Given the description of an element on the screen output the (x, y) to click on. 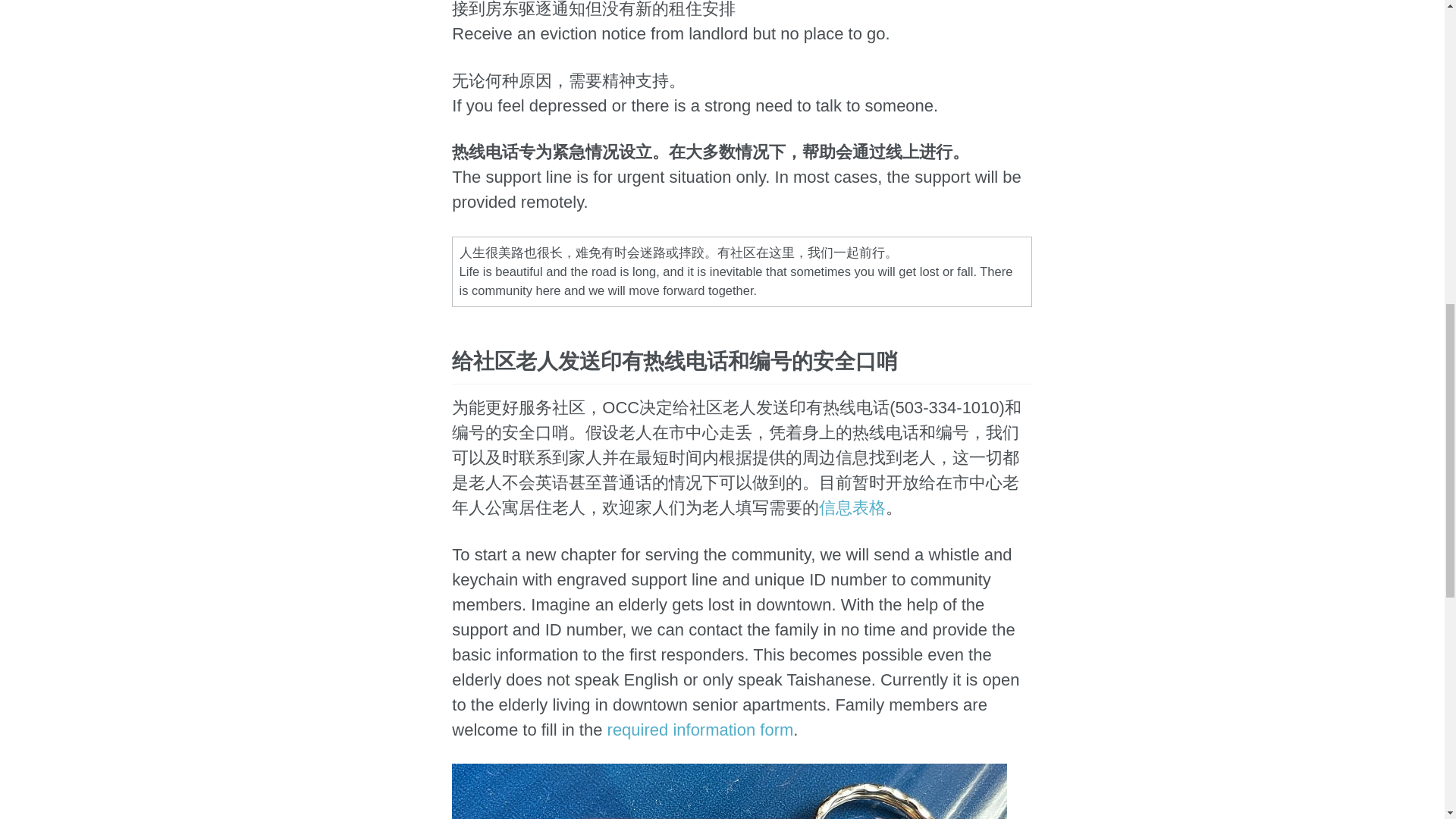
required information form (700, 729)
